Given the description of an element on the screen output the (x, y) to click on. 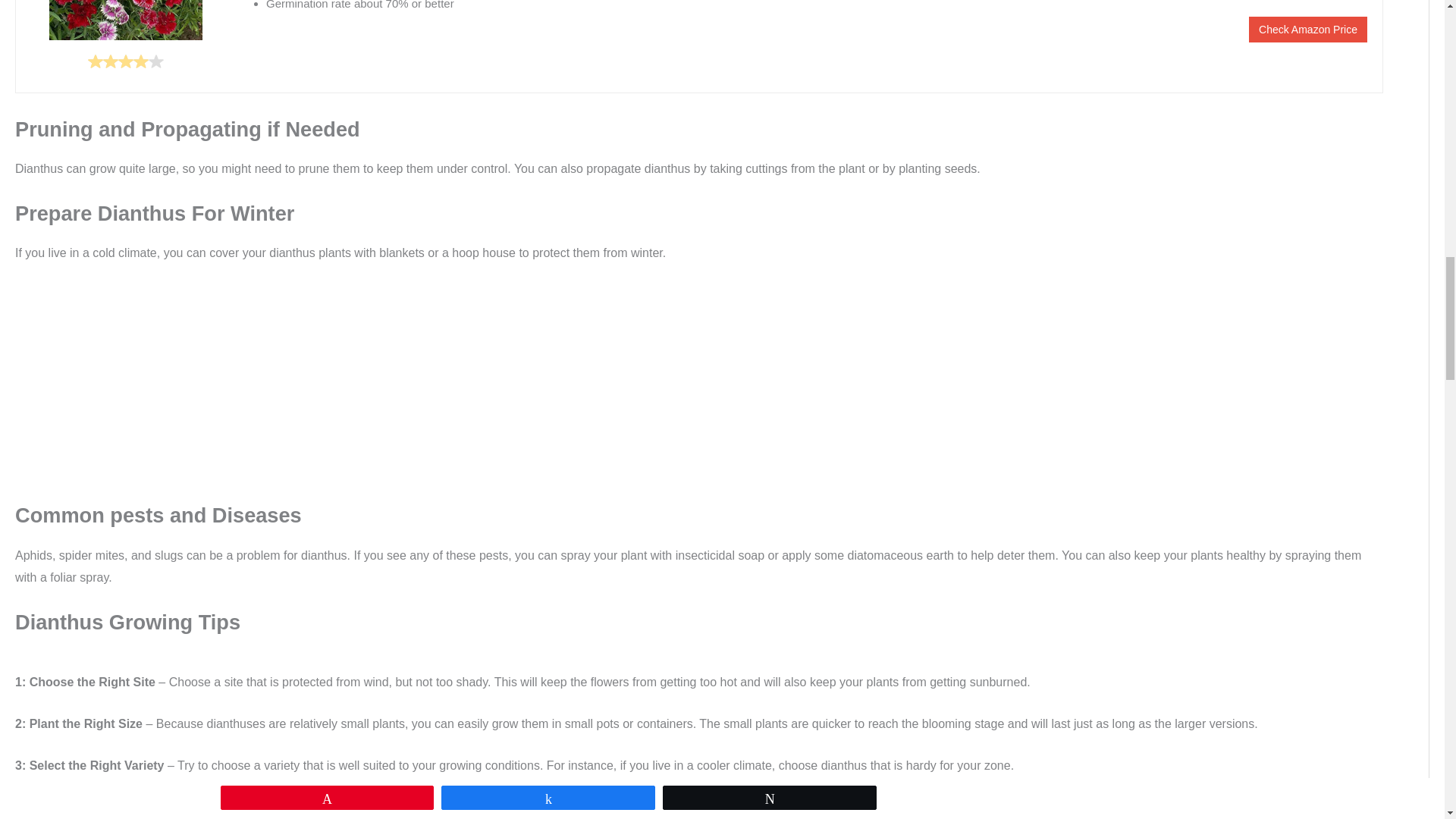
Check Amazon Price (1308, 29)
Reviews on Amazon (125, 61)
